Given the description of an element on the screen output the (x, y) to click on. 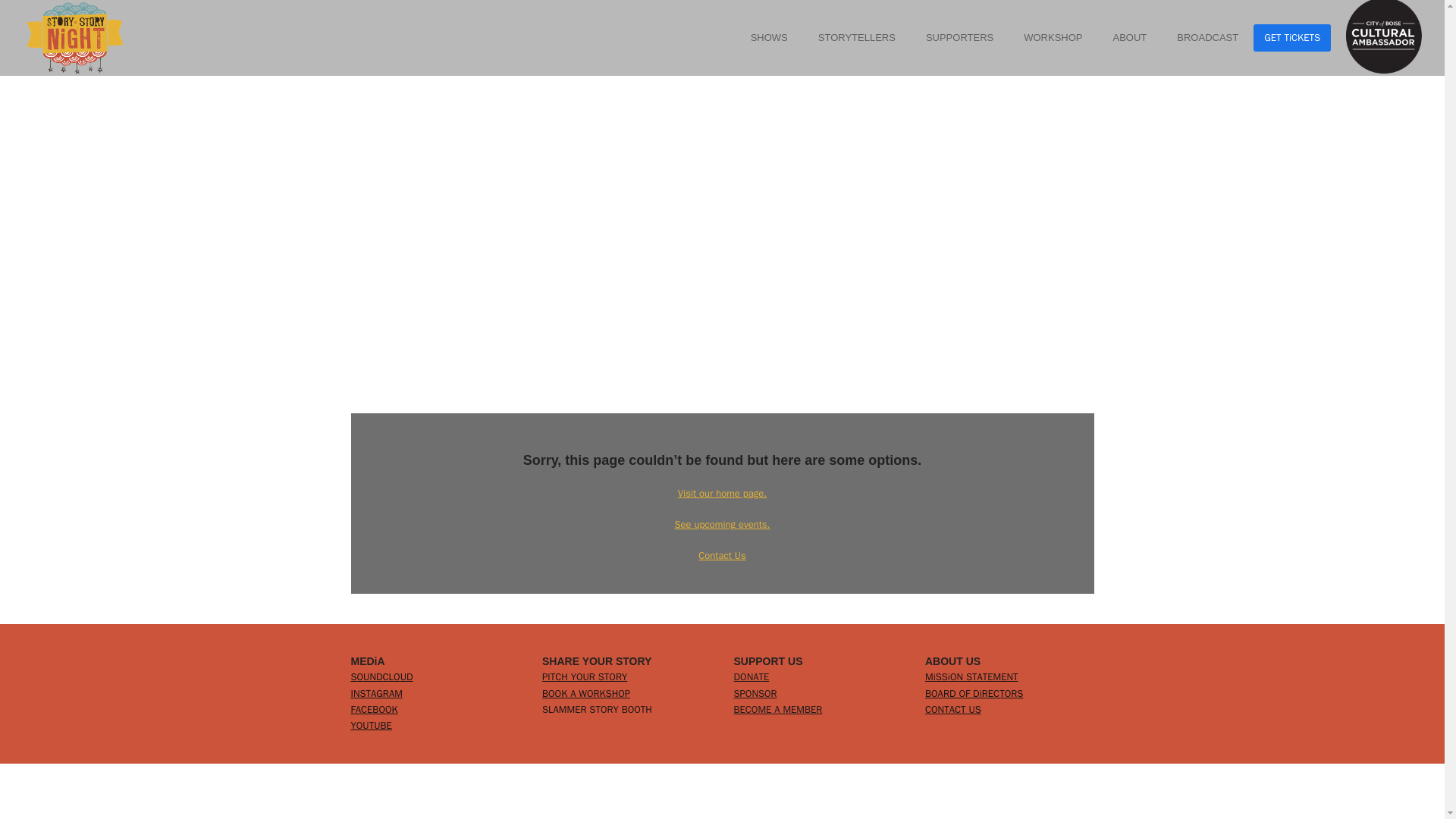
BOOK A WORKSHOP (585, 693)
YOUTUBE (370, 725)
ABOUT (1129, 37)
DONATE (751, 676)
SPONSOR (755, 693)
MiSSiON STATEMENT (970, 676)
Contact Us (721, 554)
BECOME A MEMBER (777, 708)
STORYTELLERS (857, 37)
GET TiCKETS (1291, 37)
